Given the description of an element on the screen output the (x, y) to click on. 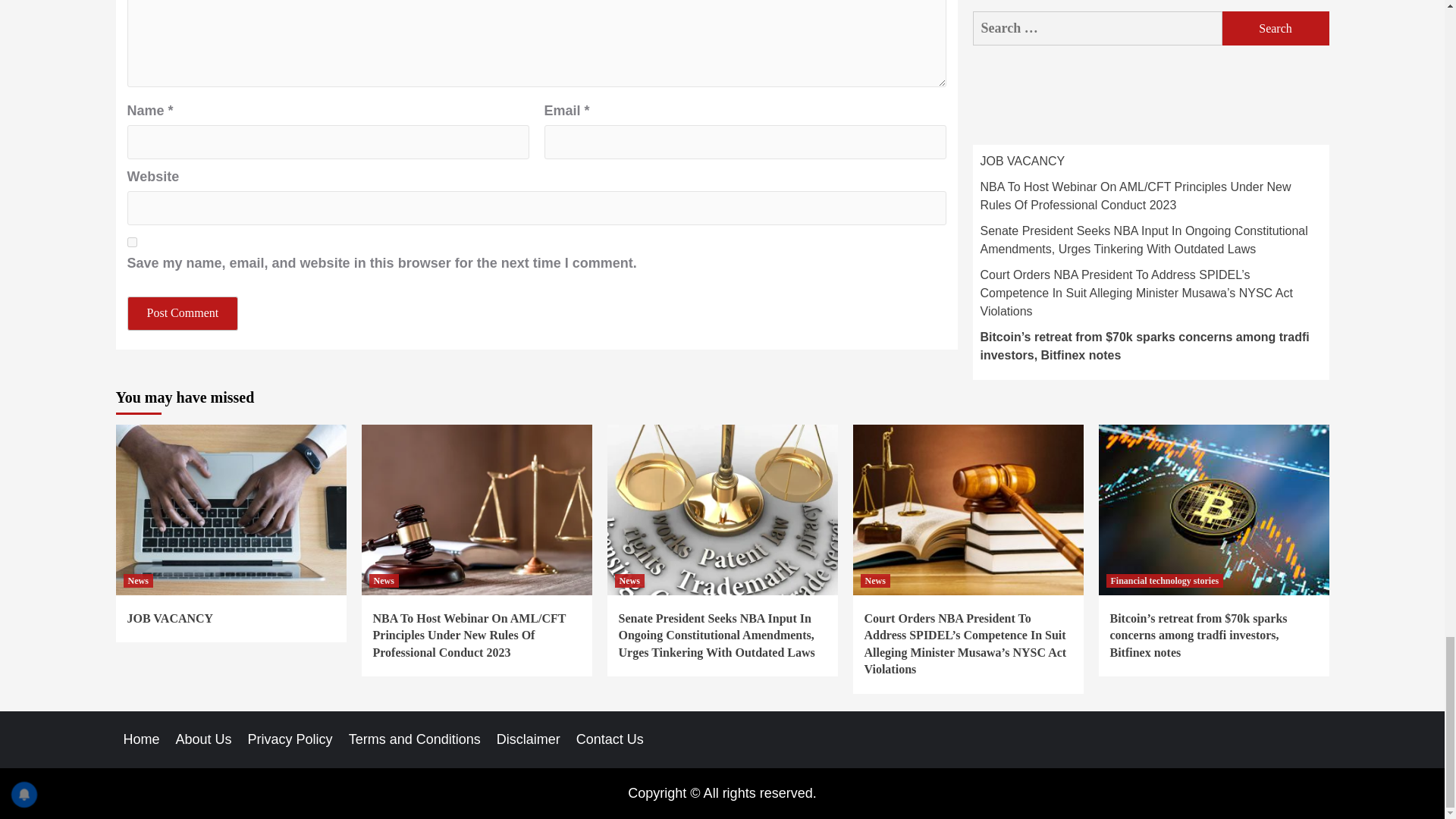
yes (132, 242)
Post Comment (183, 313)
